Given the description of an element on the screen output the (x, y) to click on. 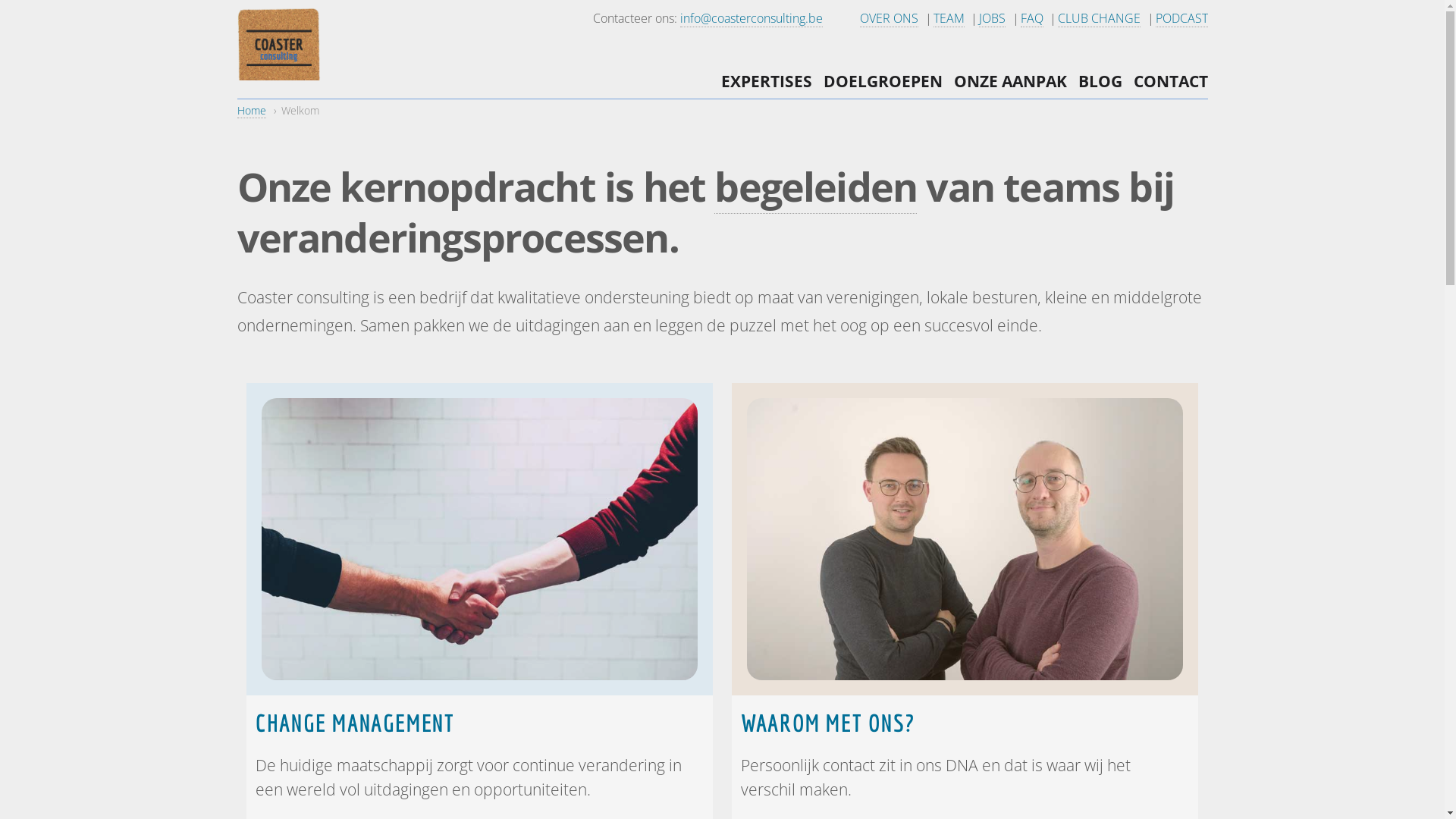
DOELGROEPEN Element type: text (882, 80)
WAAROM MET ONS? Element type: text (964, 722)
Home Element type: text (250, 110)
JOBS Element type: text (992, 18)
BLOG Element type: text (1100, 80)
PODCAST Element type: text (1181, 18)
ONZE AANPAK Element type: text (1009, 80)
CHANGE MANAGEMENT Element type: text (478, 722)
FAQ Element type: text (1031, 18)
begeleiden Element type: text (815, 186)
CONTACT Element type: text (1169, 80)
info@coasterconsulting.be Element type: text (750, 18)
CLUB CHANGE Element type: text (1098, 18)
OVER ONS Element type: text (888, 18)
EXPERTISES Element type: text (765, 80)
TEAM Element type: text (947, 18)
